Given the description of an element on the screen output the (x, y) to click on. 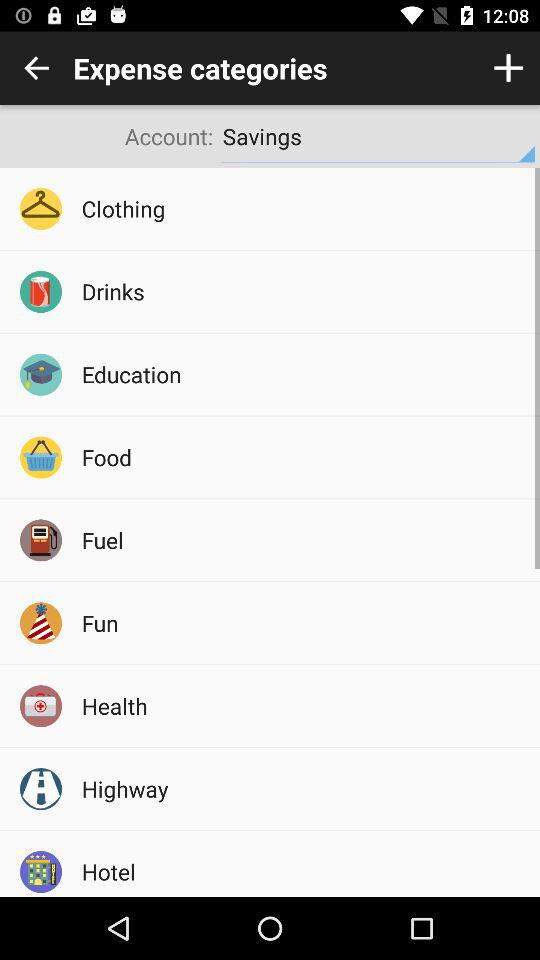
select the item above the account: (36, 68)
